Given the description of an element on the screen output the (x, y) to click on. 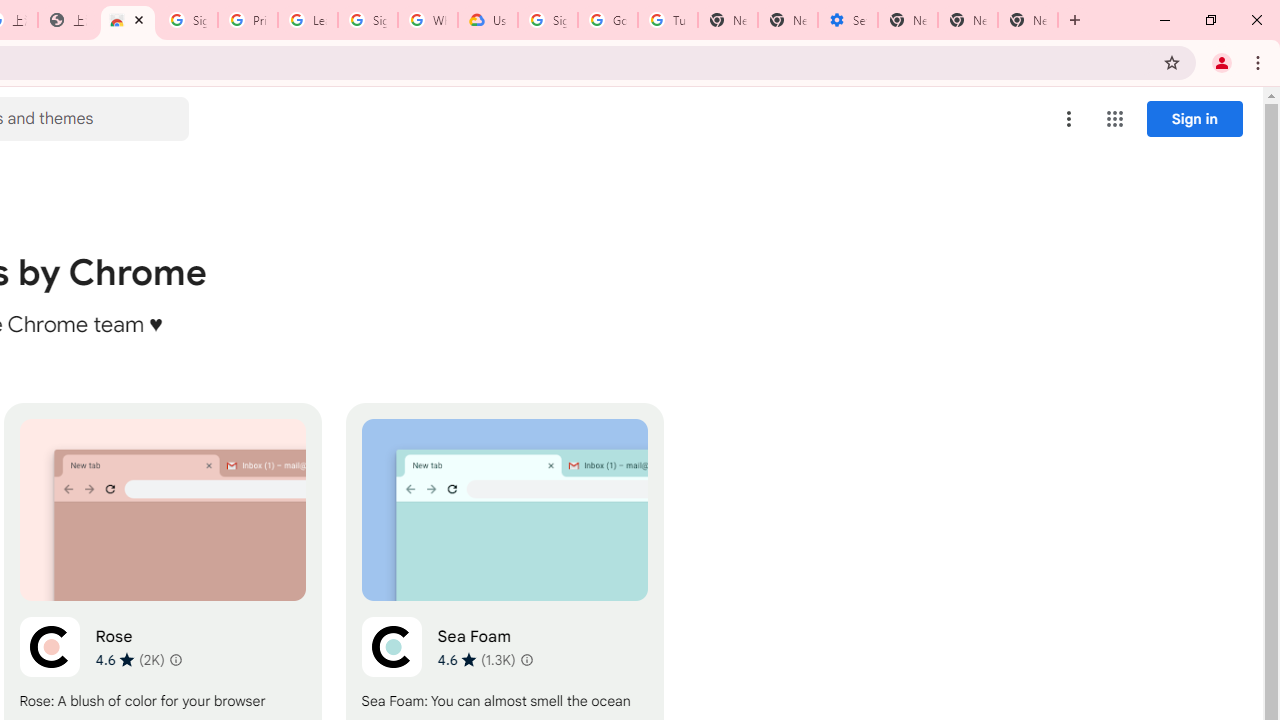
Sign in - Google Accounts (367, 20)
Who are Google's partners? - Privacy and conditions - Google (428, 20)
Settings - Addresses and more (847, 20)
Learn more about results and reviews "Rose" (175, 659)
Google Account Help (607, 20)
New Tab (908, 20)
Turn cookies on or off - Computer - Google Account Help (667, 20)
